Given the description of an element on the screen output the (x, y) to click on. 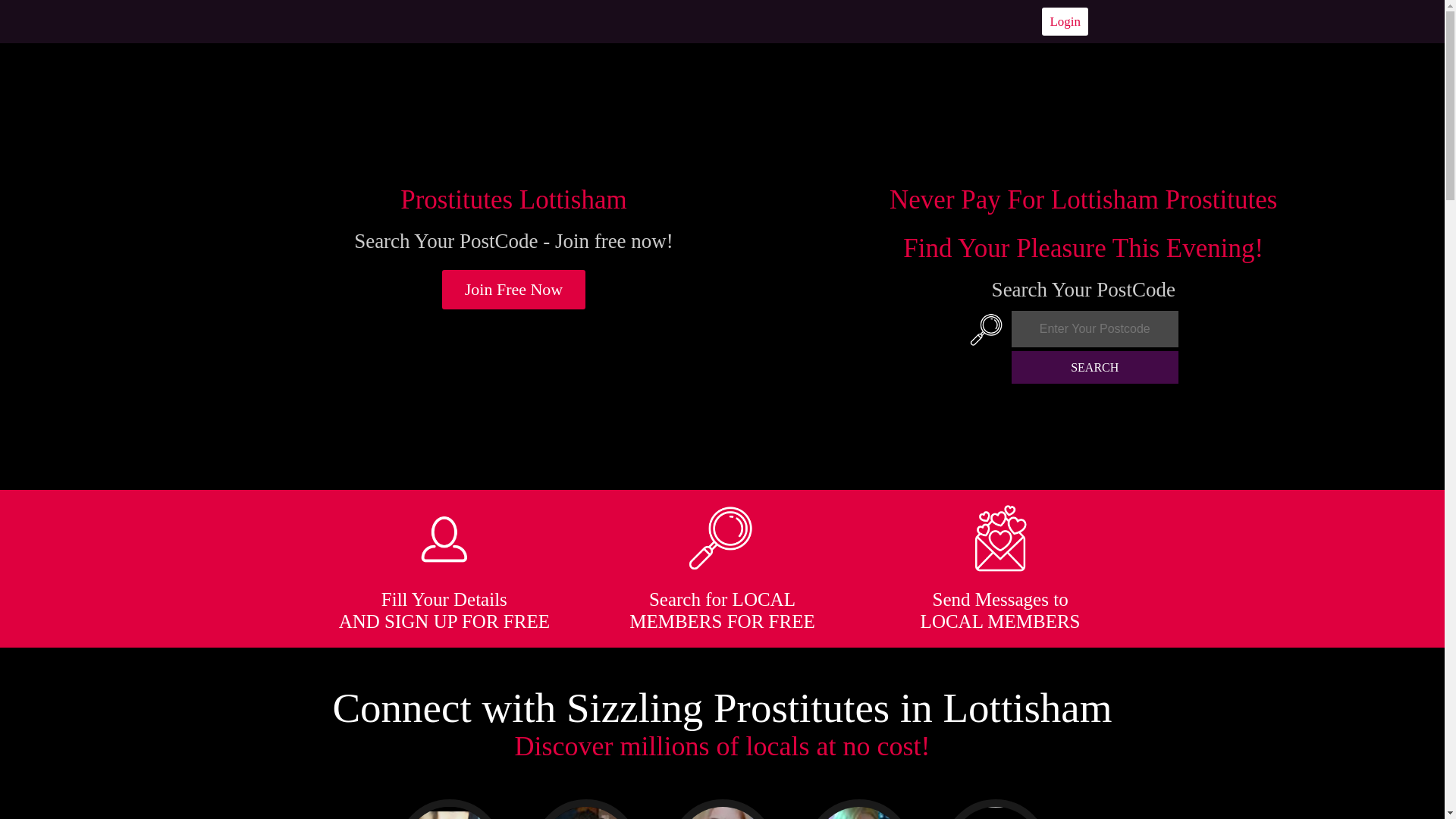
Join (514, 289)
Login (1064, 21)
Join Free Now (514, 289)
Login (1064, 21)
SEARCH (1094, 367)
